Given the description of an element on the screen output the (x, y) to click on. 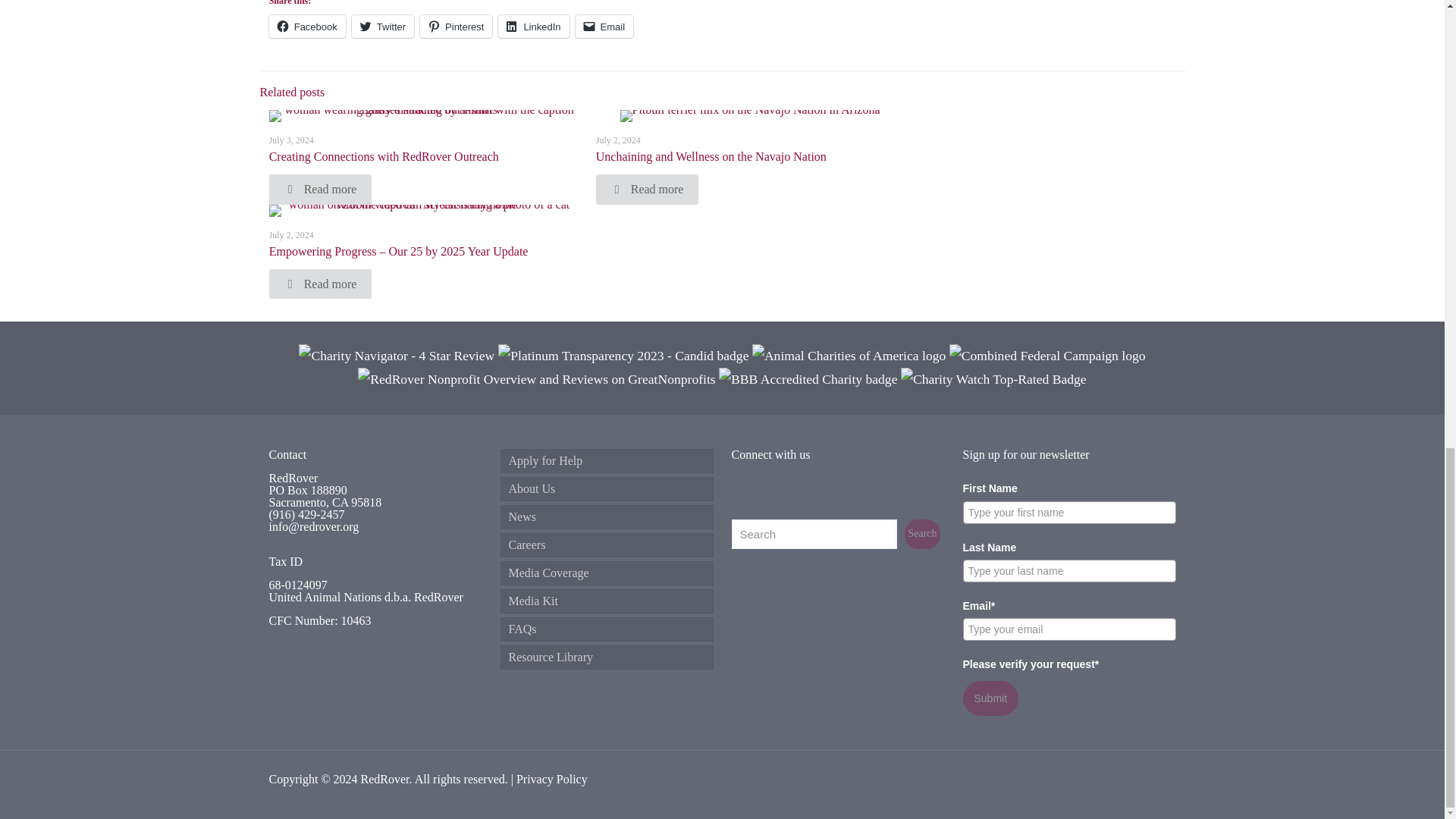
Click to share on Pinterest (456, 26)
Animal Charities of America (848, 355)
Click to email a link to a friend (604, 26)
Better Business Bureau Accreditation (807, 378)
Click to share on LinkedIn (533, 26)
2022 Top-rated nonprofits and charities (536, 379)
Charity Watch (993, 378)
Click to share on Facebook (307, 26)
2024 Review from Candid (622, 355)
2022 Charity Navigator (397, 355)
Click to share on Twitter (382, 26)
Combined Federal Campaign (1047, 355)
